Given the description of an element on the screen output the (x, y) to click on. 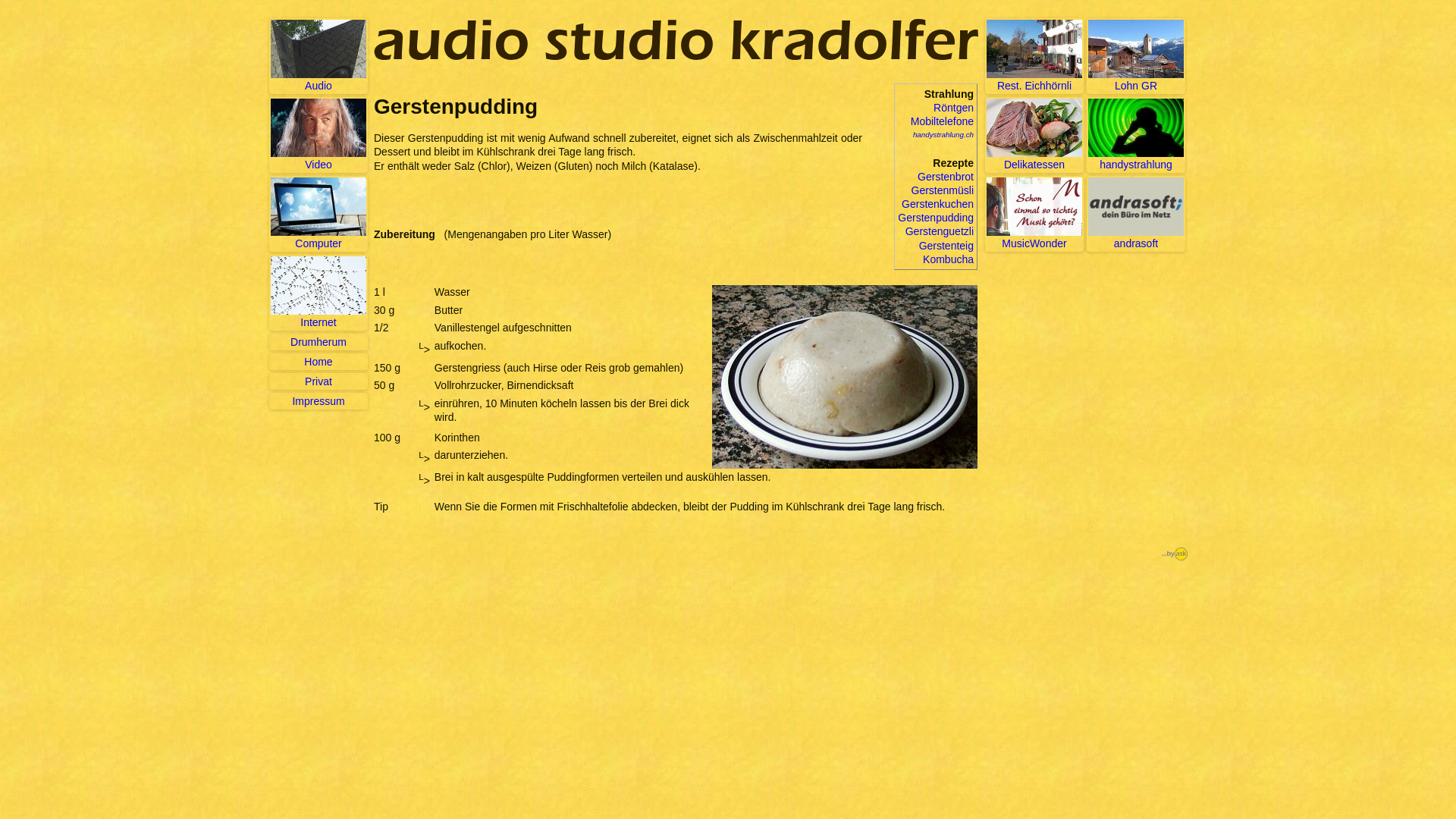
Drumherum Element type: text (318, 341)
Privat Element type: text (318, 381)
Gerstenpudding Element type: text (935, 217)
Gerstenbrot Element type: text (945, 176)
Mobiltelefone
handystrahlung.ch Element type: text (941, 127)
Gerstenguetzli Element type: text (939, 231)
Home Element type: text (318, 361)
Gerstenkuchen Element type: text (937, 203)
Audio Element type: text (318, 56)
andrasoft Element type: text (1135, 213)
Internet Element type: text (318, 292)
MusicWonder Element type: text (1034, 213)
Computer Element type: text (318, 213)
Impressum Element type: text (318, 400)
Gerstenteig Element type: text (946, 245)
Lohn GR Element type: text (1135, 56)
Video Element type: text (318, 134)
Delikatessen Element type: text (1034, 134)
handystrahlung Element type: text (1135, 134)
Kombucha Element type: text (947, 259)
